Given the description of an element on the screen output the (x, y) to click on. 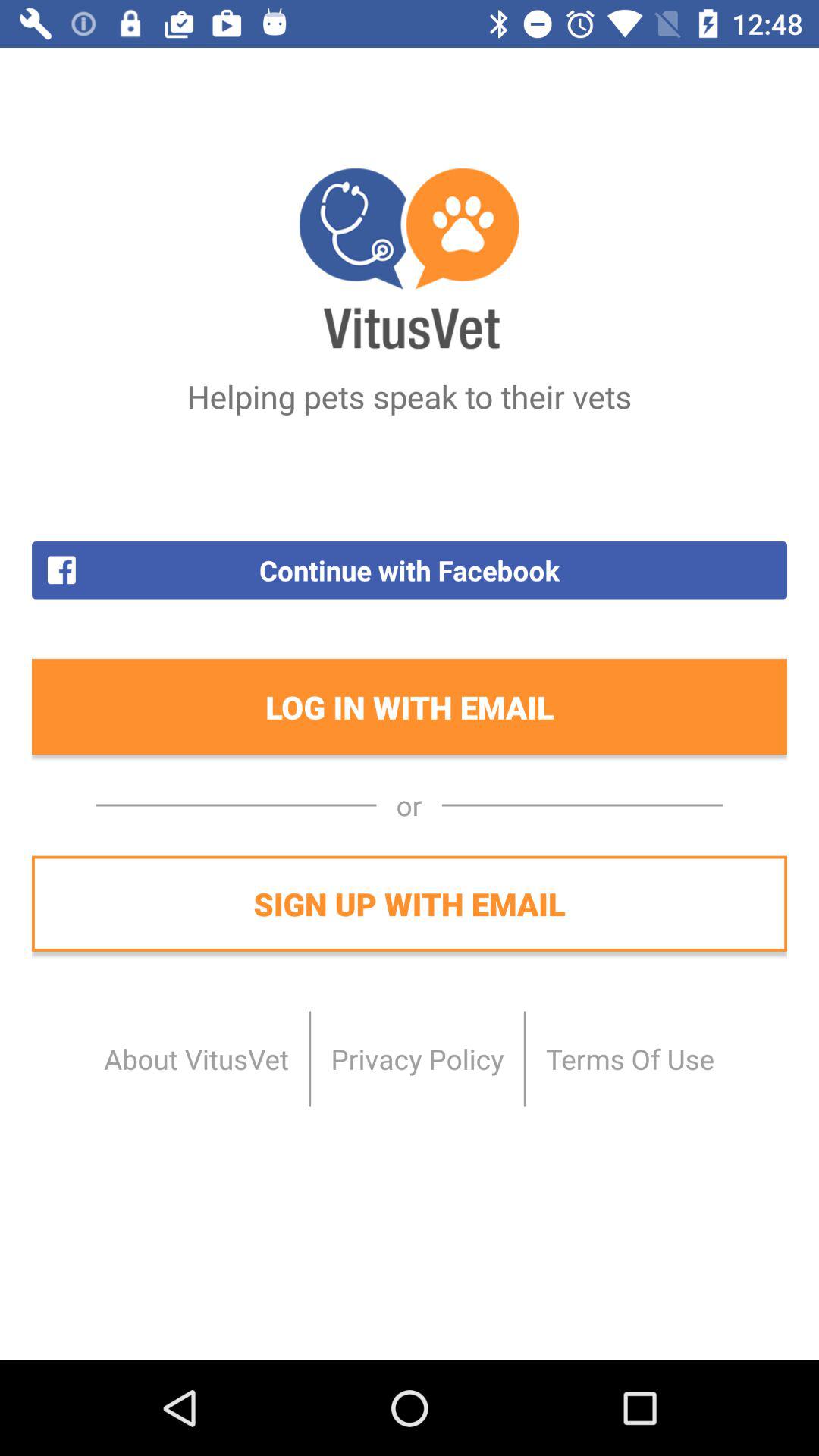
swipe until log in with icon (409, 706)
